Given the description of an element on the screen output the (x, y) to click on. 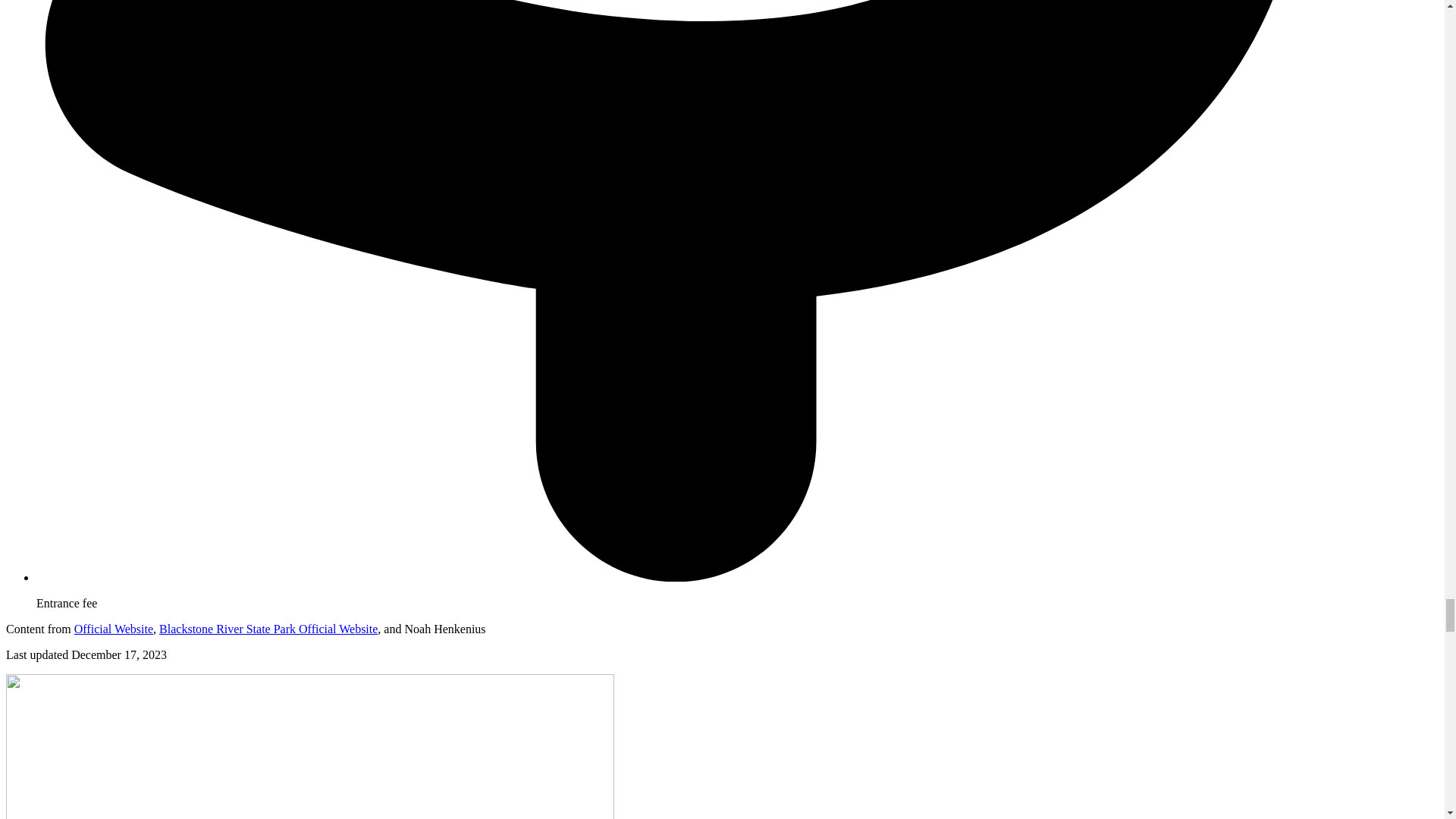
Blackstone River State Park Official Website (267, 628)
Official Website (113, 628)
